Given the description of an element on the screen output the (x, y) to click on. 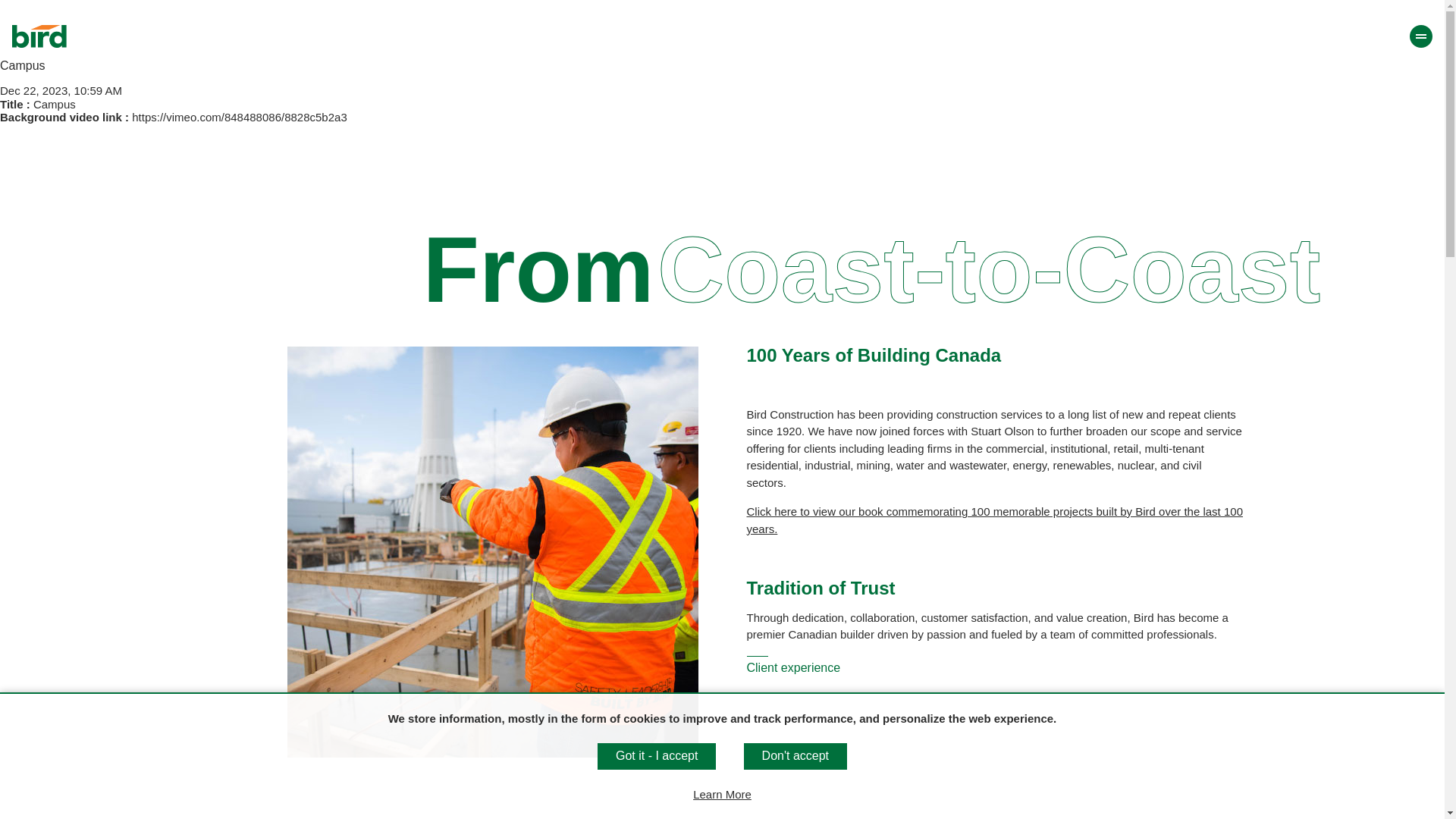
Don't accept (795, 755)
Bird (38, 36)
Menu (1420, 36)
Got it - I accept (656, 755)
